Given the description of an element on the screen output the (x, y) to click on. 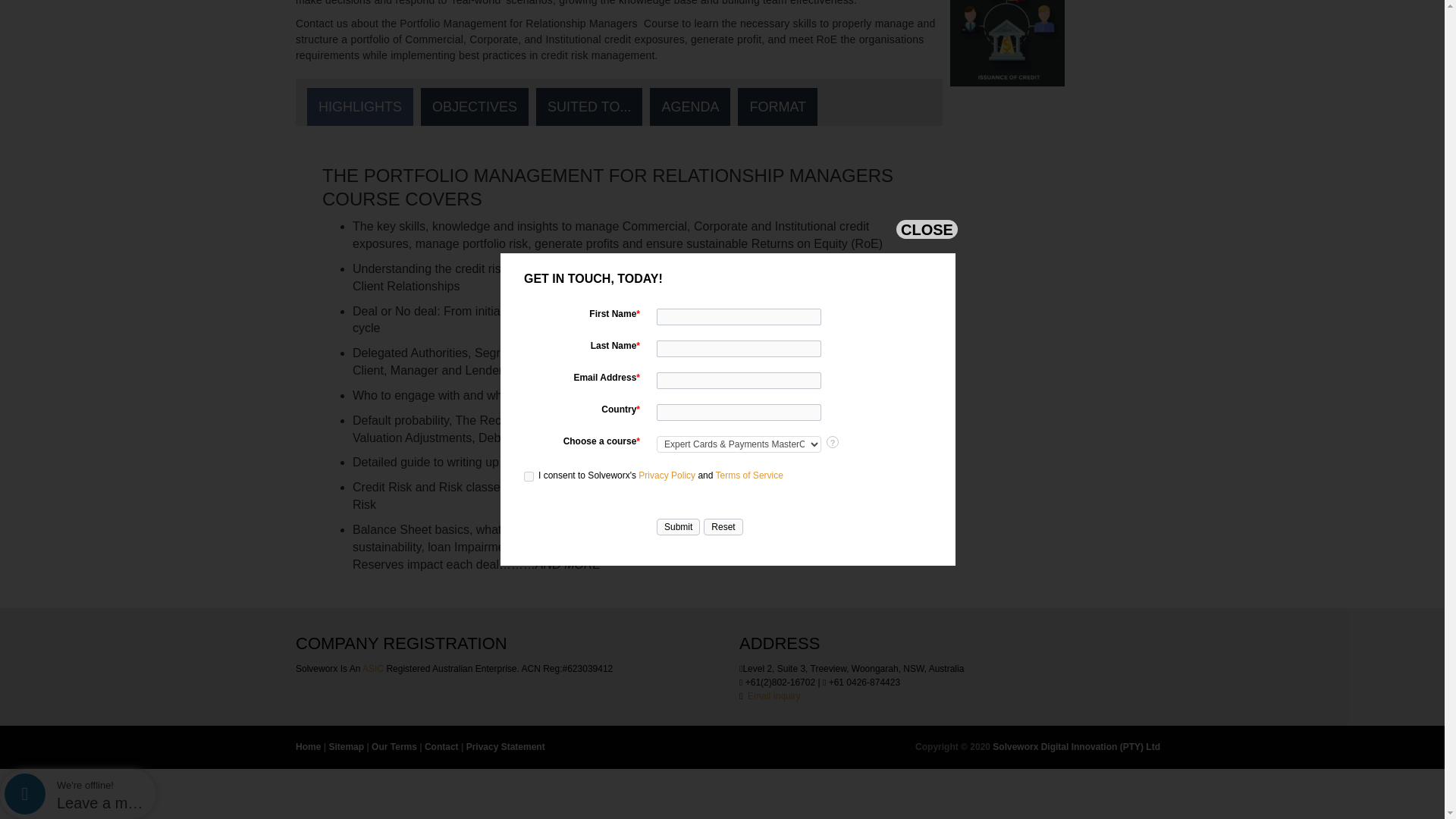
Submit (678, 59)
on (529, 9)
Reset (722, 59)
Submit (678, 59)
Reset (722, 59)
